Given the description of an element on the screen output the (x, y) to click on. 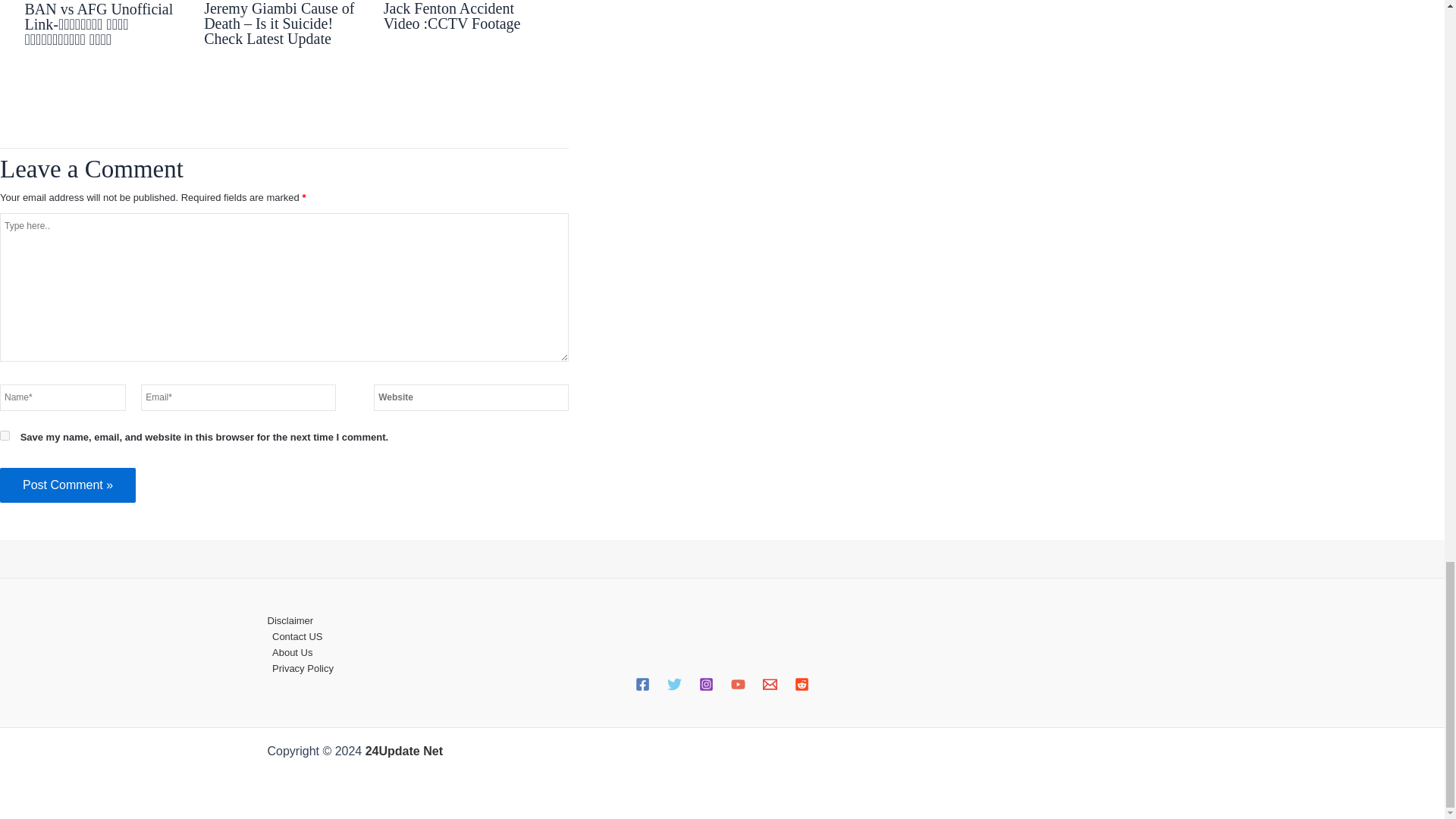
Email (769, 684)
yes (5, 435)
About Us (721, 652)
Disclaimer (721, 620)
Privacy Policy (721, 668)
Jack Fenton Accident Video :CCTV Footage (452, 15)
Contact US (721, 636)
